Given the description of an element on the screen output the (x, y) to click on. 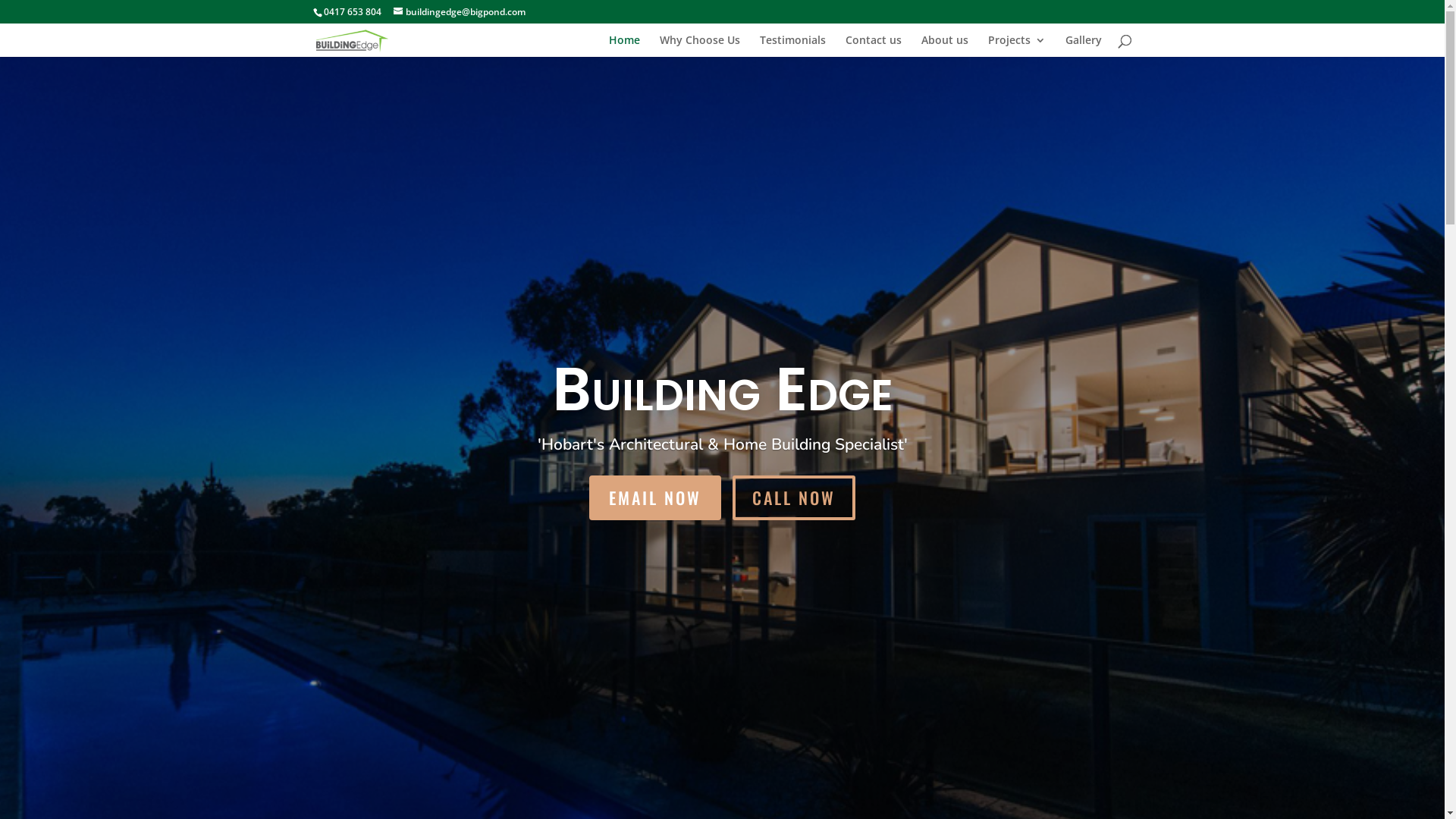
buildingedge@bigpond.com Element type: text (458, 11)
About us Element type: text (943, 45)
CALL NOW Element type: text (793, 497)
Projects Element type: text (1015, 45)
Why Choose Us Element type: text (699, 45)
Gallery Element type: text (1082, 45)
Contact us Element type: text (872, 45)
EMAIL NOW Element type: text (655, 497)
Testimonials Element type: text (792, 45)
Home Element type: text (623, 45)
